Given the description of an element on the screen output the (x, y) to click on. 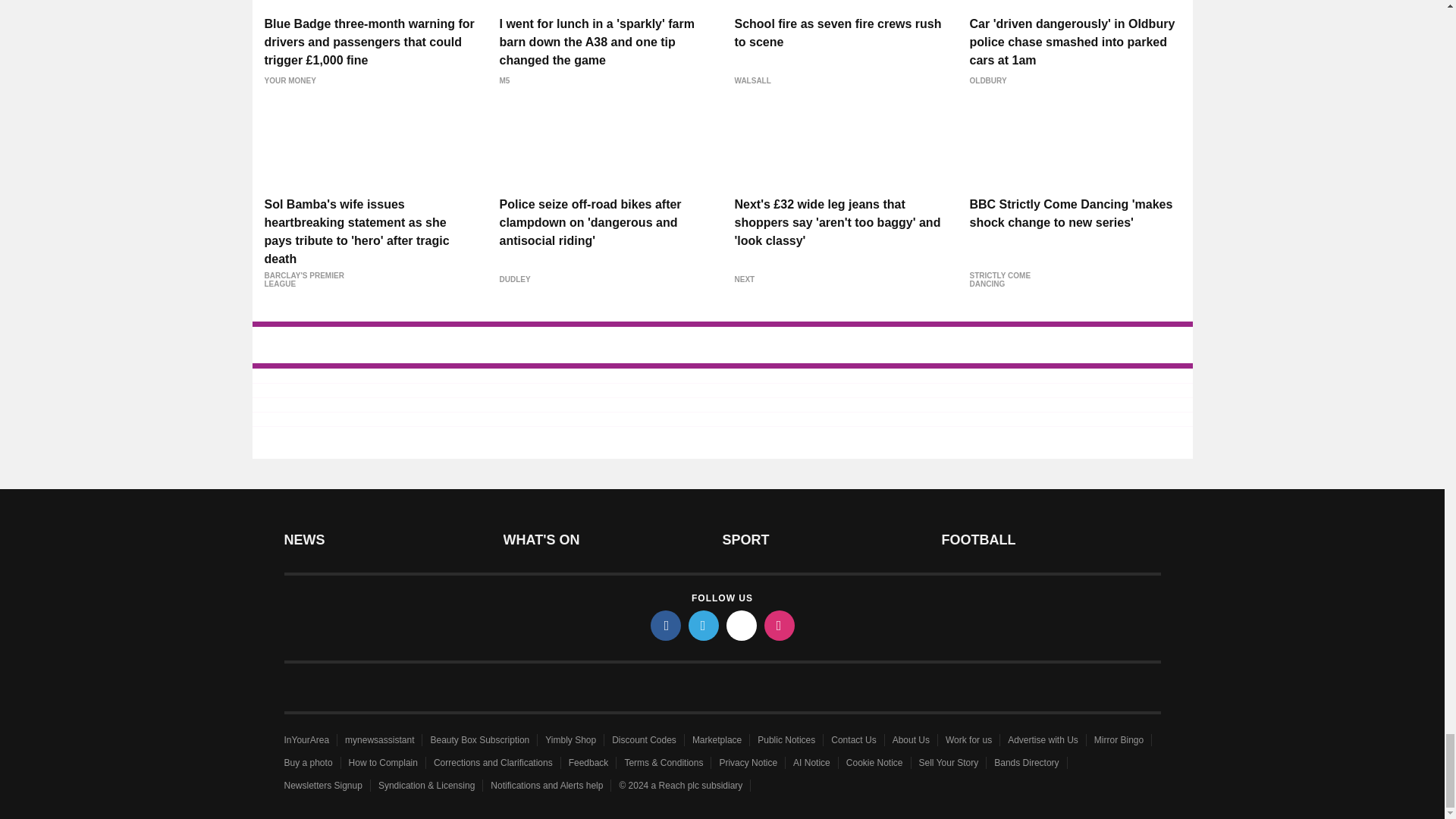
twitter (703, 625)
facebook (665, 625)
tiktok (741, 625)
instagram (779, 625)
